Given the description of an element on the screen output the (x, y) to click on. 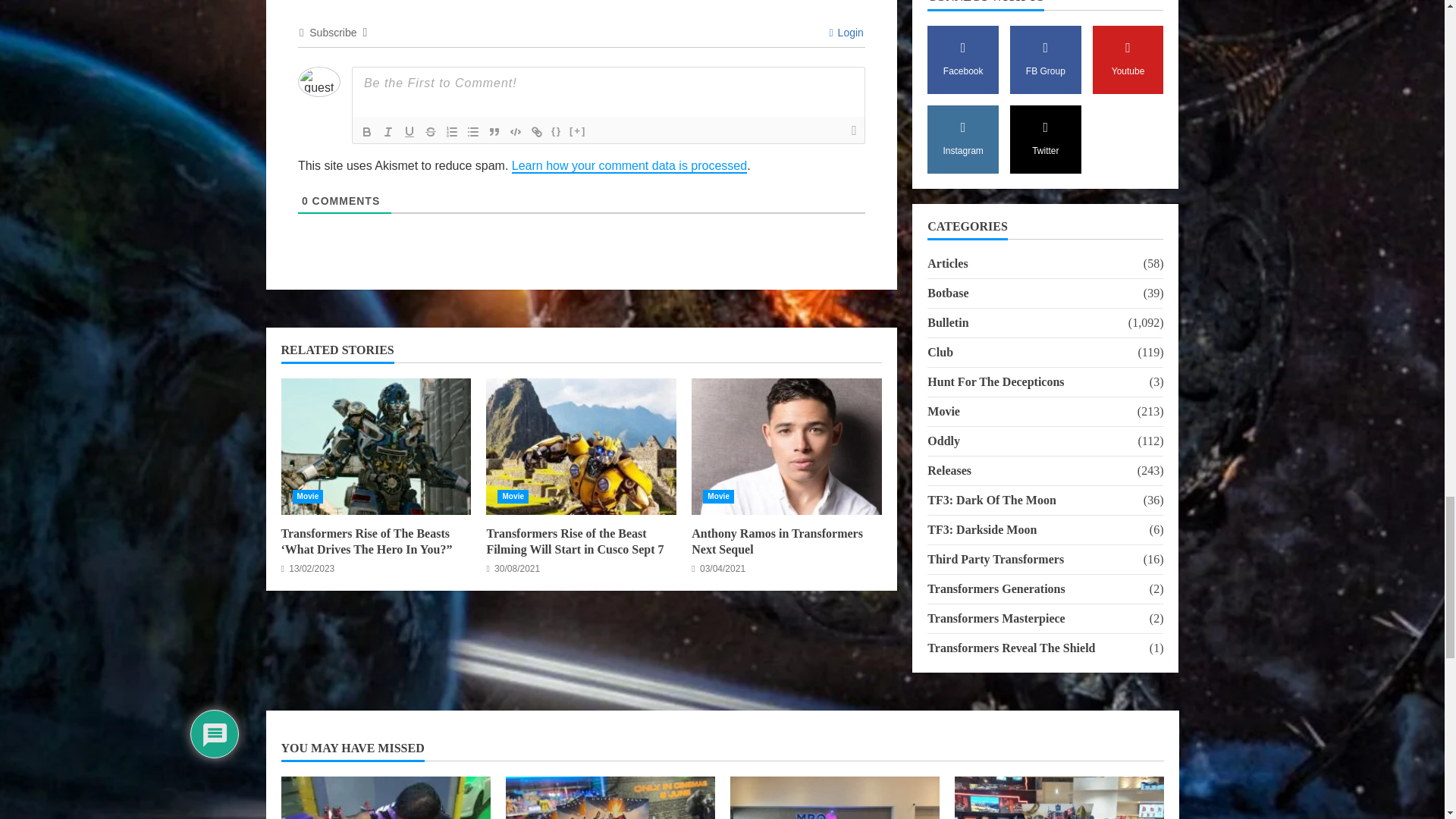
Ordered List (452, 131)
Blockquote (494, 131)
Bold (366, 131)
Underline (409, 131)
Italic (387, 131)
Unordered List (473, 131)
Strike (430, 131)
